Given the description of an element on the screen output the (x, y) to click on. 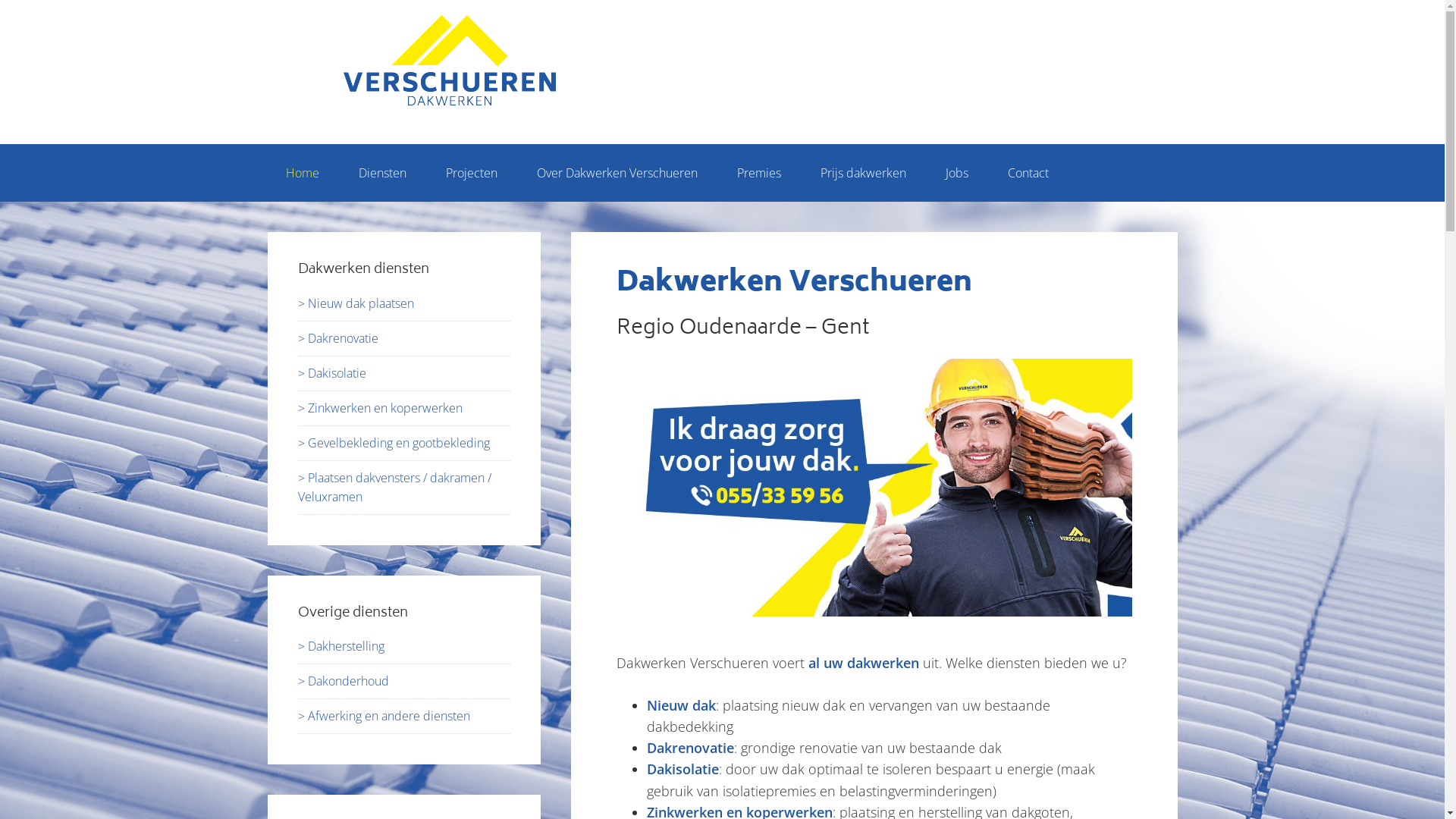
Over Dakwerken Verschueren Element type: text (616, 172)
Prijs dakwerken Element type: text (863, 172)
Projecten Element type: text (471, 172)
> Dakisolatie Element type: text (331, 372)
Jobs Element type: text (955, 172)
al uw dakwerken Element type: text (865, 662)
> Dakherstelling Element type: text (340, 645)
Skip to primary navigation Element type: text (0, 0)
> Zinkwerken en koperwerken Element type: text (379, 407)
Dakisolatie Element type: text (682, 768)
Contact Element type: text (1027, 172)
Premies Element type: text (758, 172)
> Nieuw dak plaatsen Element type: text (355, 302)
> Afwerking en andere diensten Element type: text (383, 715)
> Plaatsen dakvensters / dakramen / Veluxramen Element type: text (393, 487)
> Dakrenovatie Element type: text (337, 337)
Diensten Element type: text (381, 172)
> Dakonderhoud Element type: text (342, 680)
Dakrenovatie Element type: text (689, 747)
Home Element type: text (301, 172)
> Gevelbekleding en gootbekleding Element type: text (393, 442)
Nieuw dak Element type: text (680, 705)
